Given the description of an element on the screen output the (x, y) to click on. 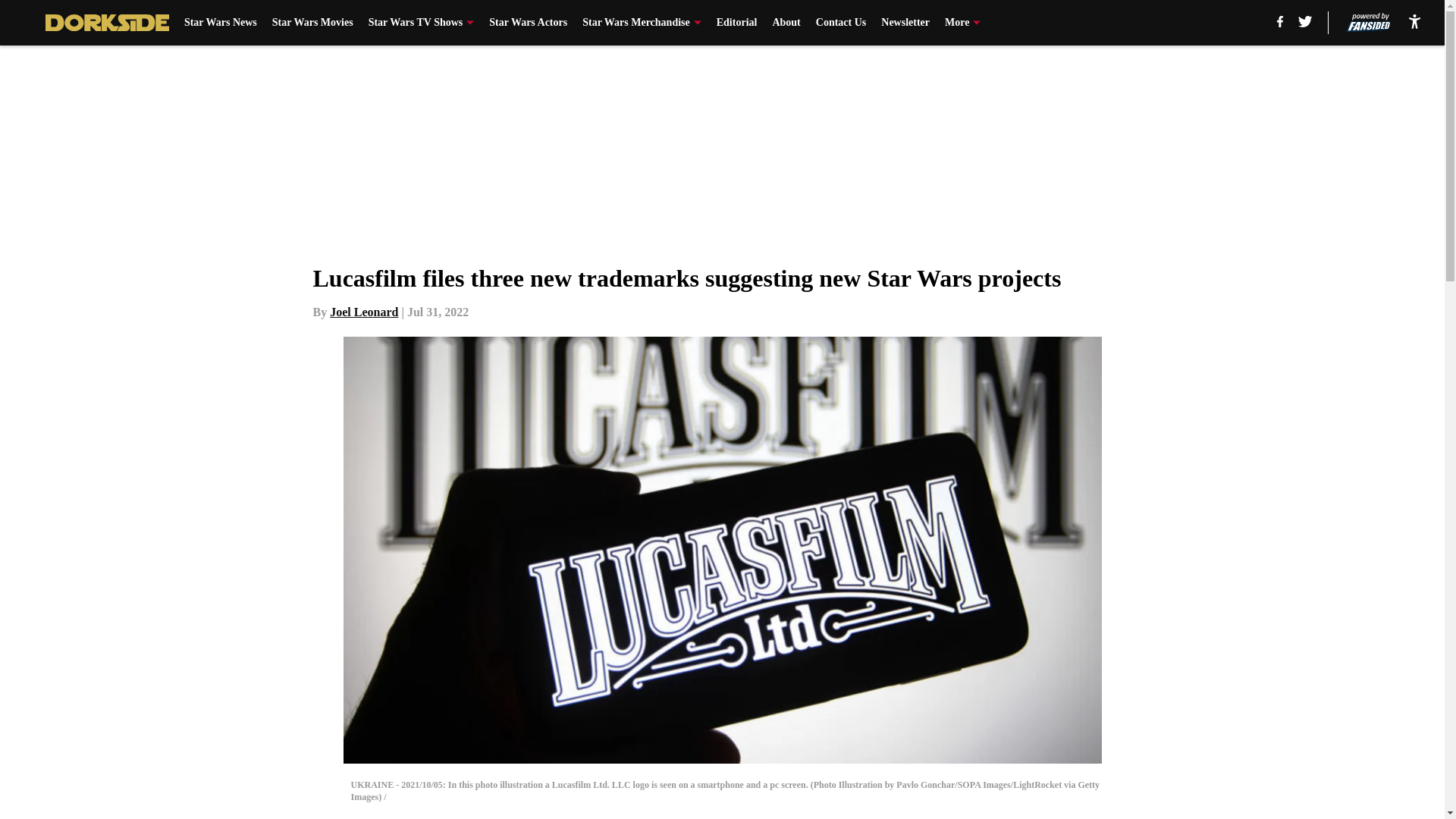
Contact Us (840, 22)
Star Wars Movies (312, 22)
About (785, 22)
Joel Leonard (363, 311)
Star Wars Actors (528, 22)
Star Wars News (220, 22)
Star Wars Merchandise (641, 22)
Newsletter (905, 22)
Editorial (736, 22)
More (961, 22)
